Given the description of an element on the screen output the (x, y) to click on. 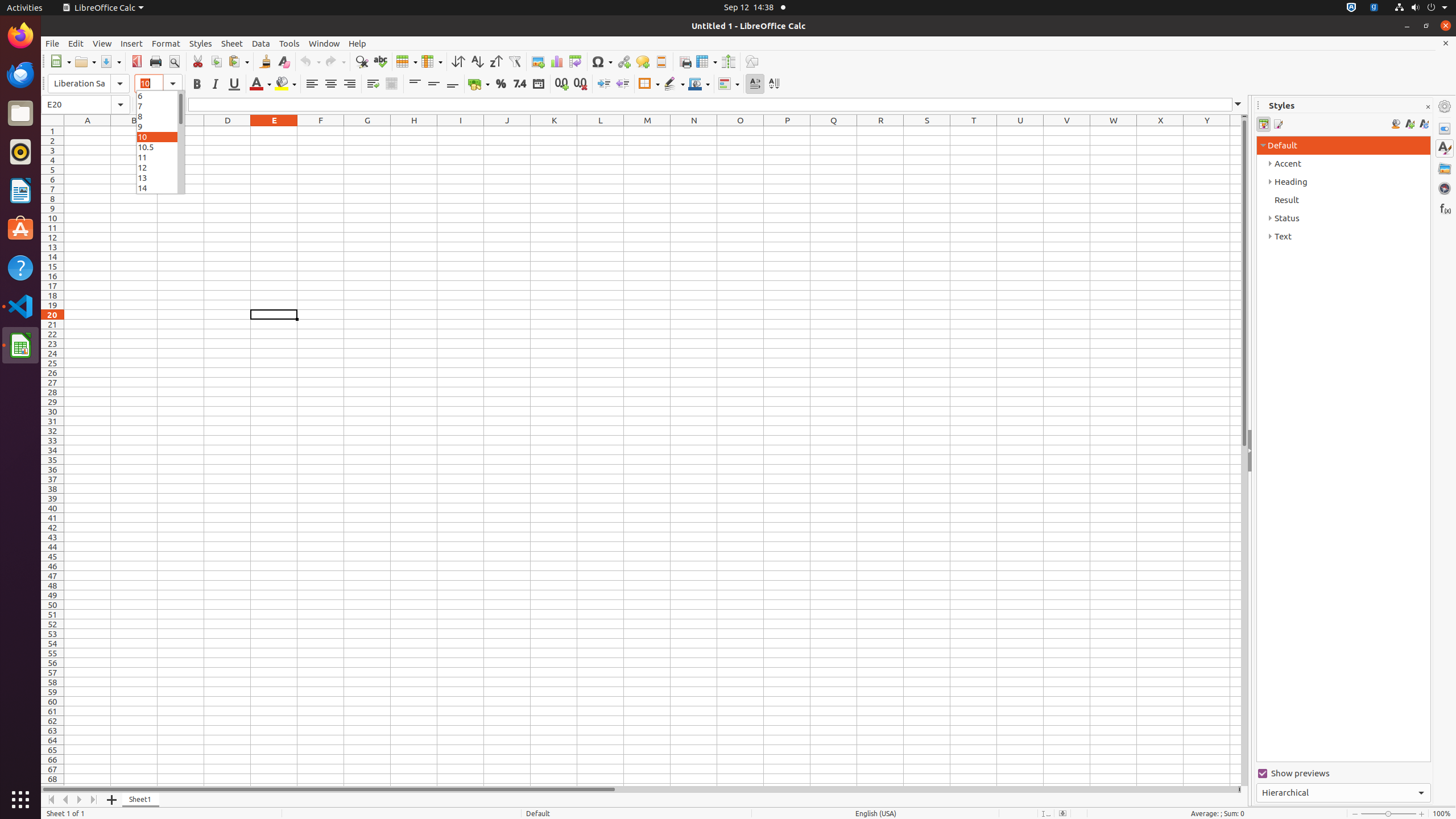
10 Element type: list-item (160, 136)
D1 Element type: table-cell (227, 130)
Merge and Center Cells Element type: push-button (391, 83)
Sheet1 Element type: page-tab (140, 799)
